Given the description of an element on the screen output the (x, y) to click on. 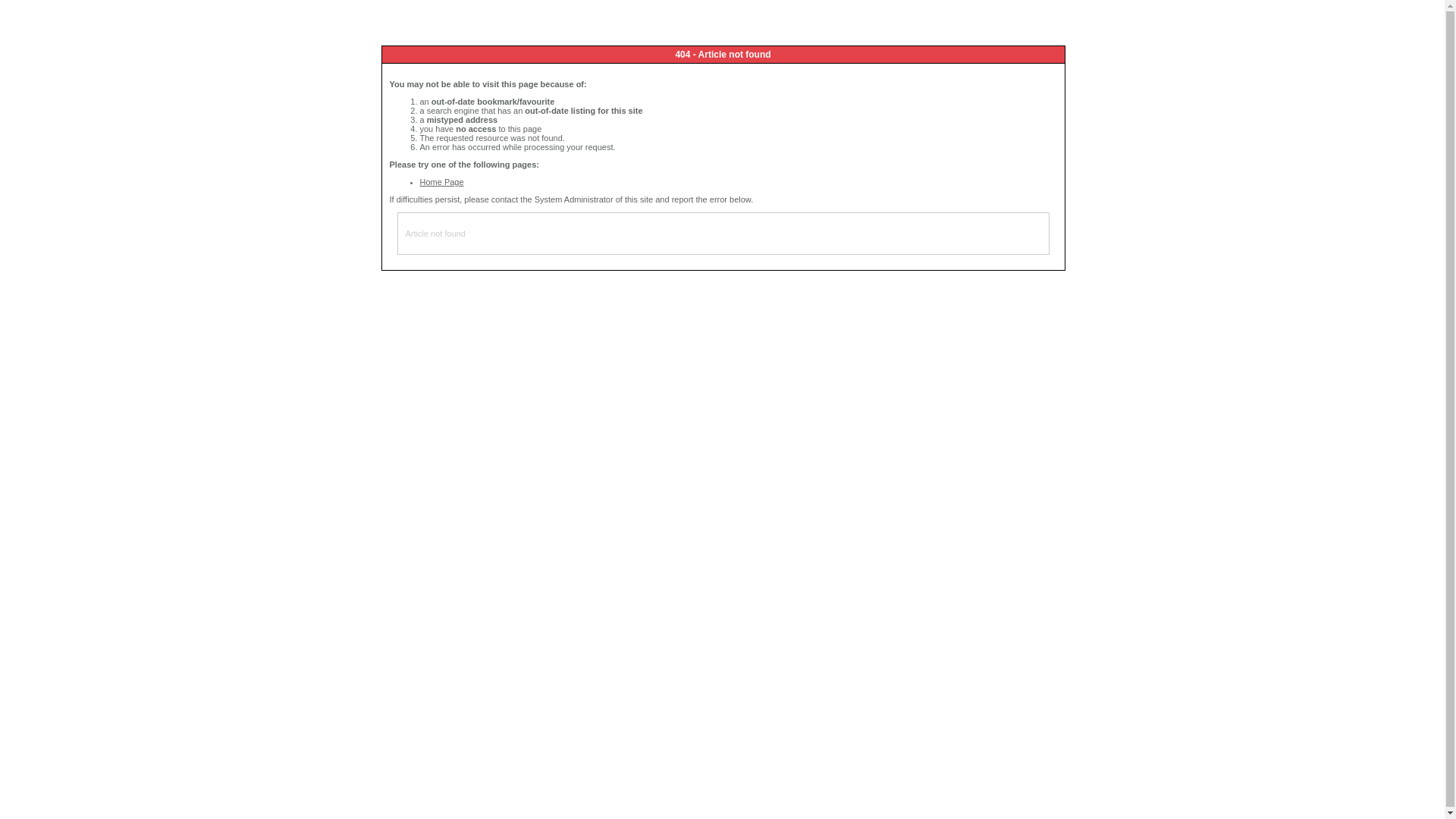
Home Page Element type: text (442, 181)
